Given the description of an element on the screen output the (x, y) to click on. 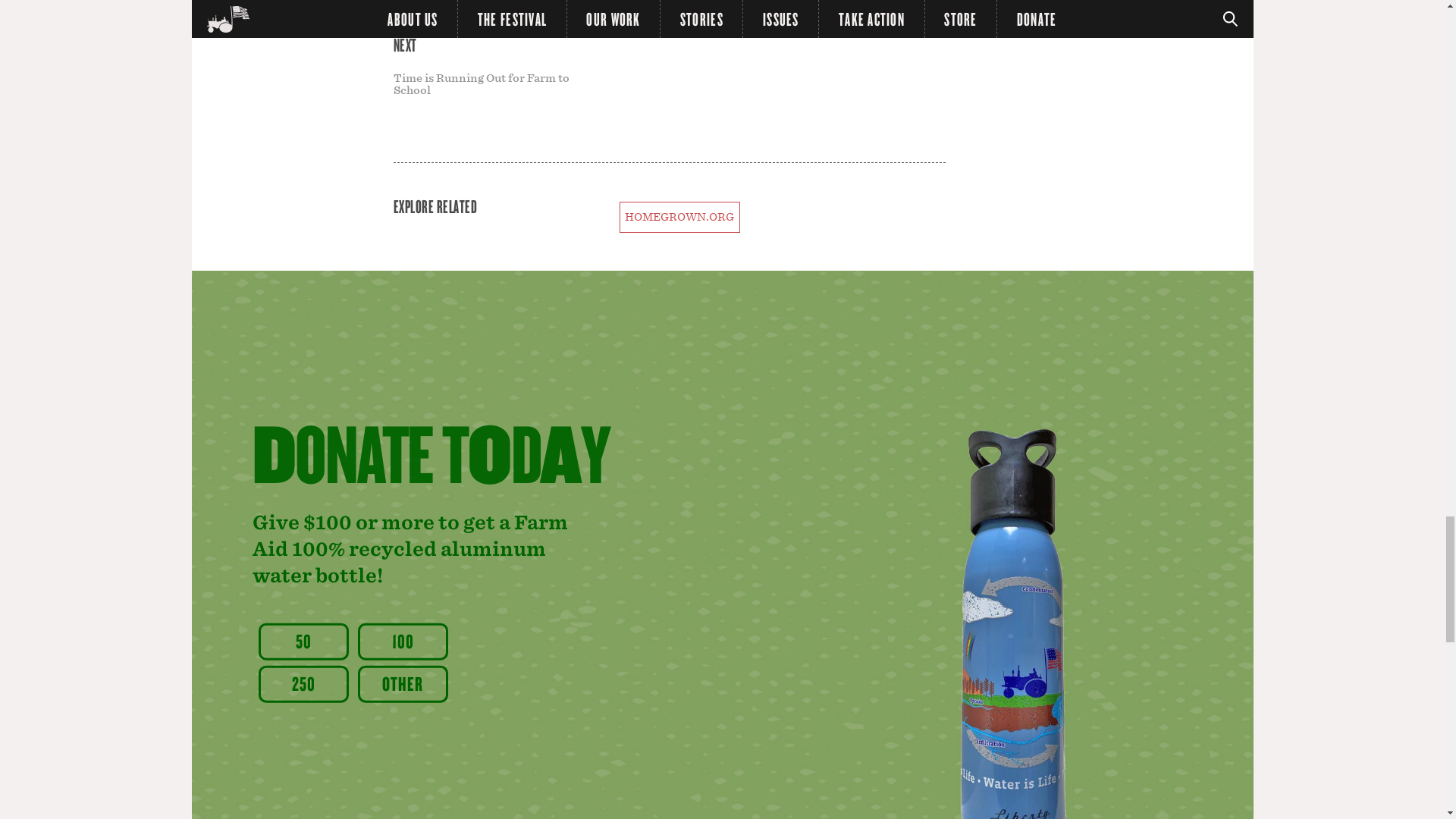
Time is Running Out for Farm to School (481, 84)
250 (304, 683)
OTHER (403, 683)
100 (403, 641)
50 (304, 641)
HOMEGROWN.ORG (678, 216)
